Given the description of an element on the screen output the (x, y) to click on. 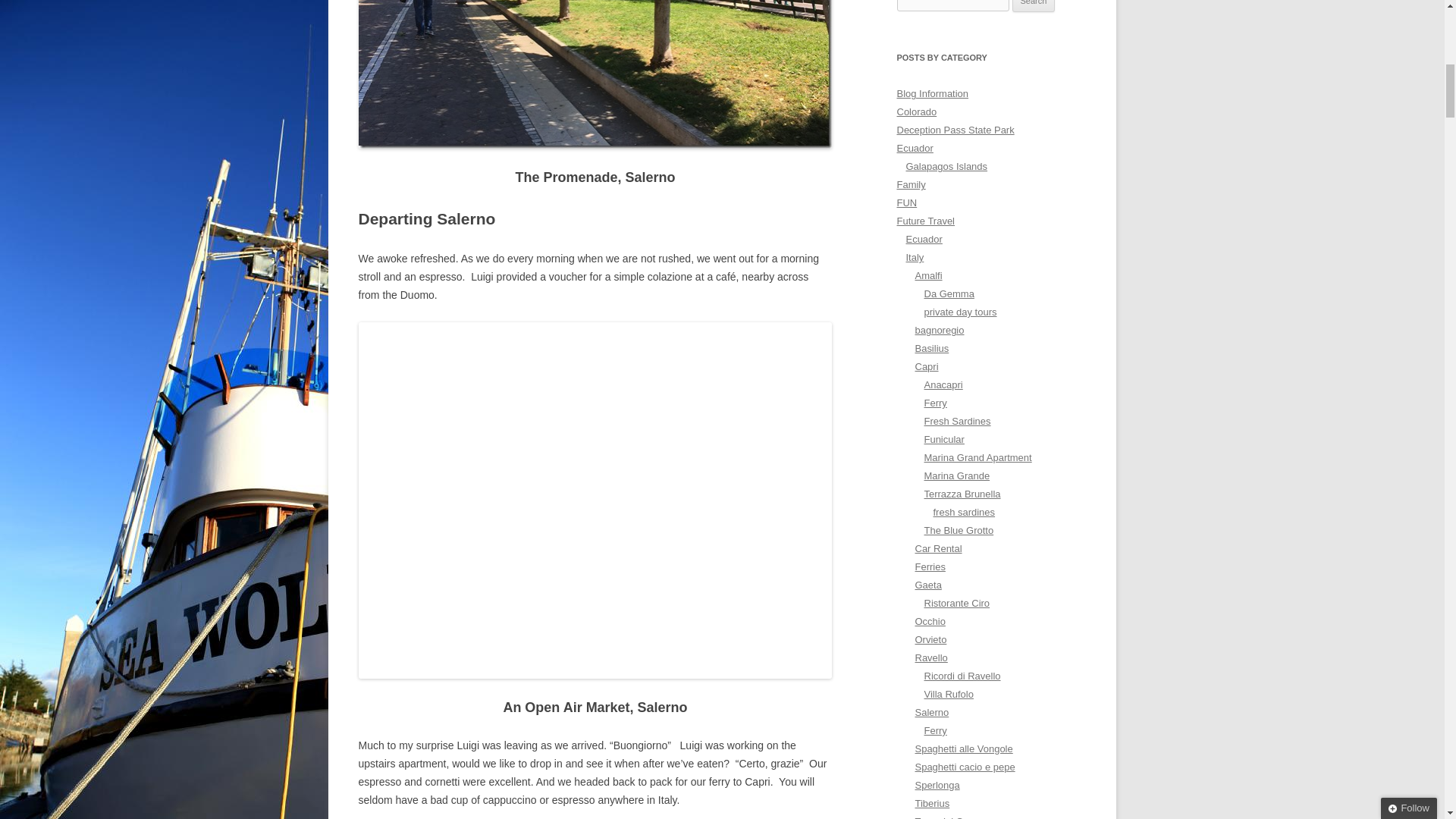
Search (1033, 6)
Email Address (1348, 128)
Sign me up! (1312, 156)
